Given the description of an element on the screen output the (x, y) to click on. 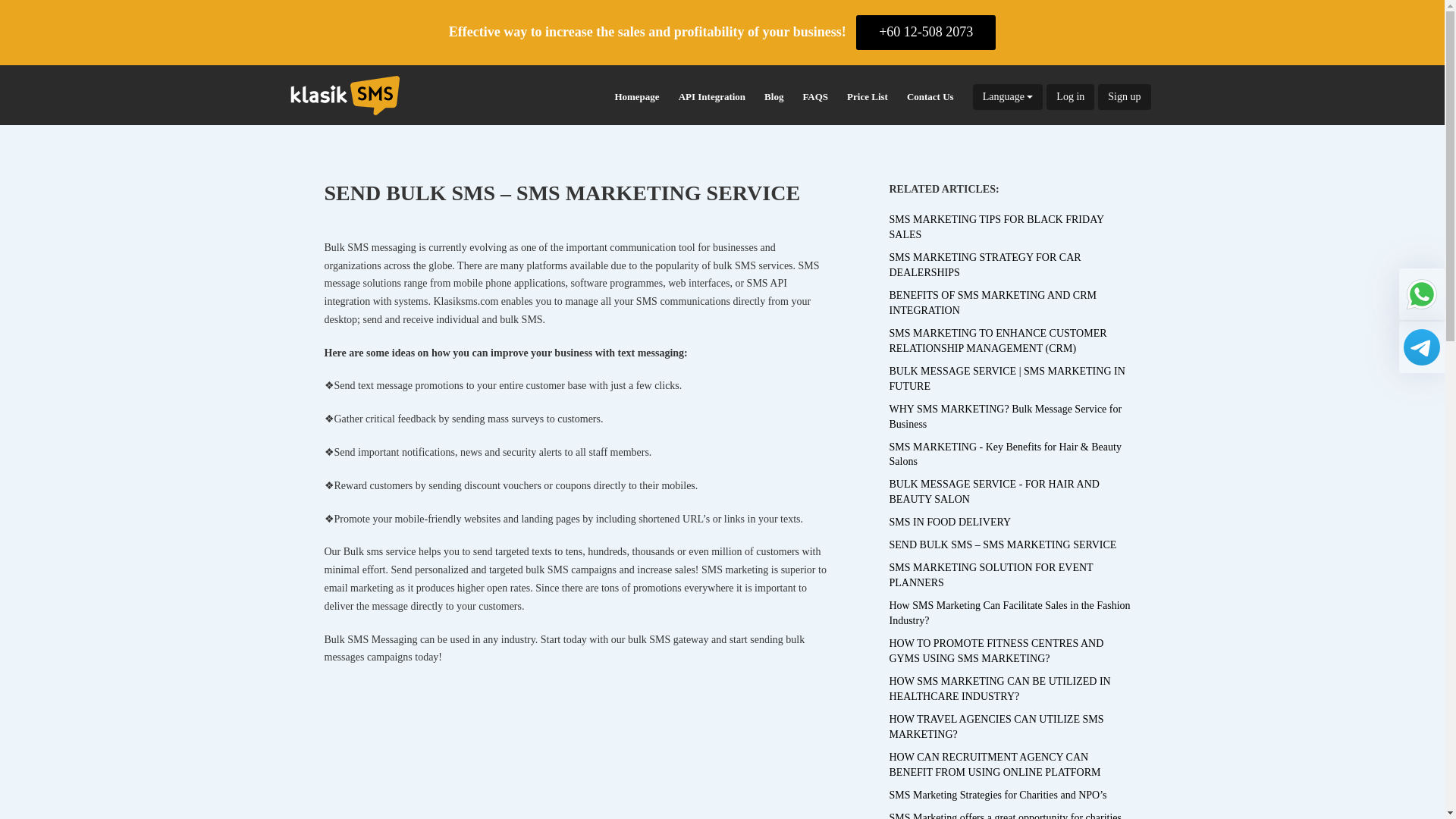
BULK MESSAGE SERVICE - FOR HAIR AND BEAUTY SALON (993, 487)
Log in (1070, 96)
Language (1007, 96)
SMS MARKETING SOLUTION FOR EVENT PLANNERS (990, 571)
WHY SMS MARKETING? Bulk Message Service for Business (1004, 412)
FAQS (814, 96)
BENEFITS OF SMS MARKETING AND CRM INTEGRATION (992, 298)
HOW SMS MARKETING CAN BE UTILIZED IN HEALTHCARE INDUSTRY? (998, 684)
SMS MARKETING TIPS FOR BLACK FRIDAY SALES (995, 223)
HOW TO PROMOTE FITNESS CENTRES AND GYMS USING SMS MARKETING? (995, 646)
Sign up (1123, 96)
Homepage (636, 96)
HOW TRAVEL AGENCIES CAN UTILIZE SMS MARKETING? (995, 722)
Price List (867, 96)
